Given the description of an element on the screen output the (x, y) to click on. 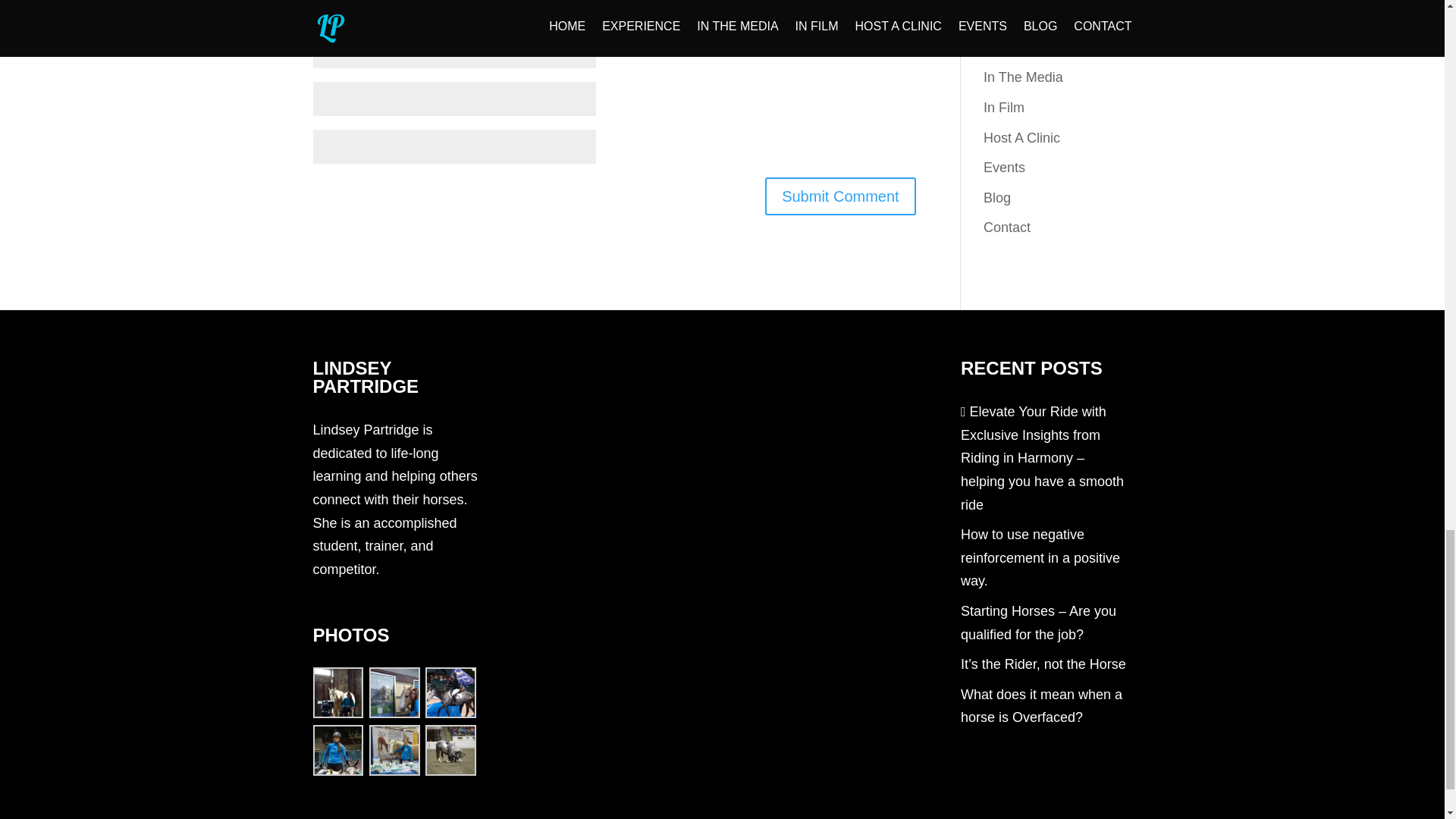
Submit Comment (840, 196)
Home (1002, 17)
Submit Comment (840, 196)
In The Media (1023, 77)
Experience (1017, 47)
